Given the description of an element on the screen output the (x, y) to click on. 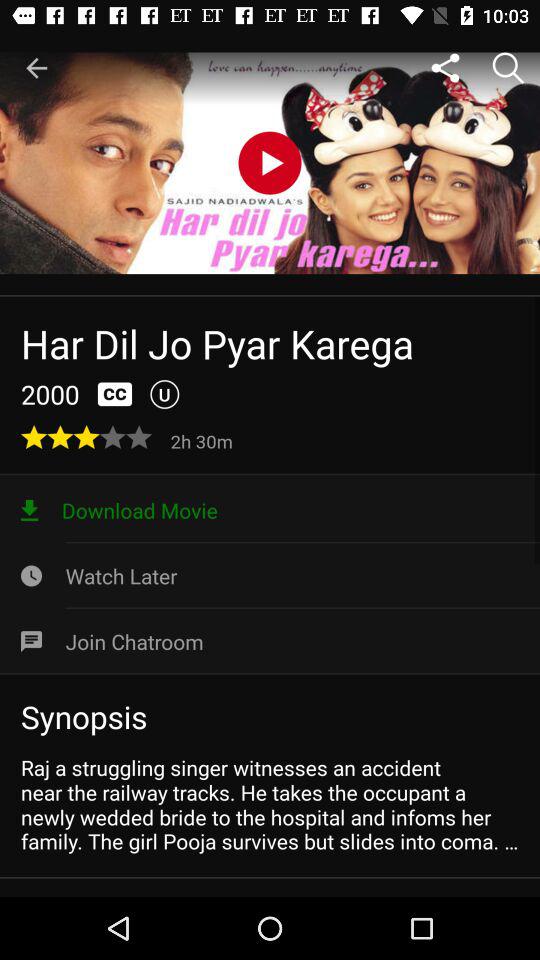
tap item above the download movie (203, 440)
